Given the description of an element on the screen output the (x, y) to click on. 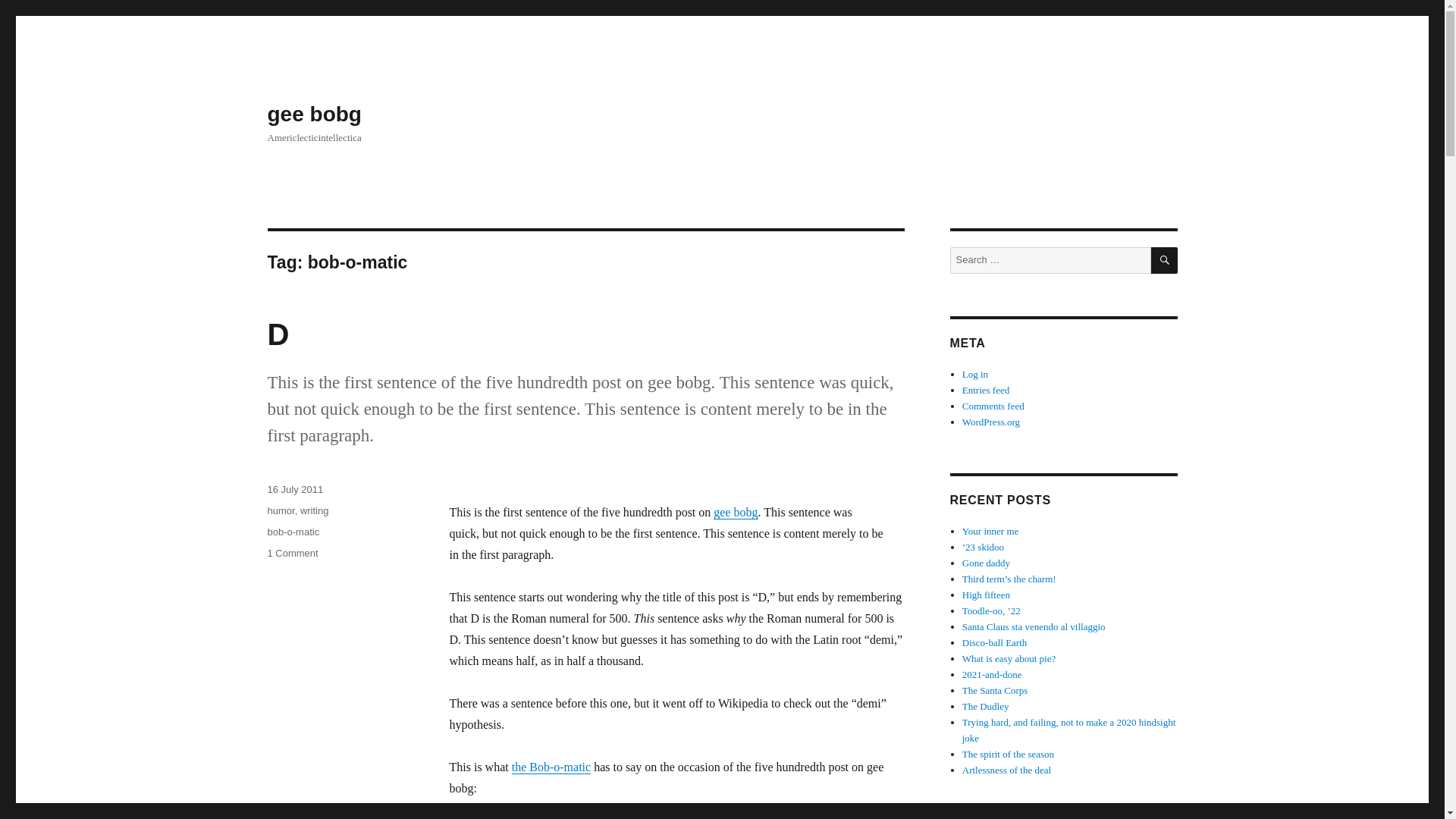
16 July 2011 (294, 489)
gee bobg (313, 114)
bob-o-matic (292, 531)
gee bobg (291, 552)
the Bob-o-matic (735, 512)
humor (551, 766)
writing (280, 510)
